Given the description of an element on the screen output the (x, y) to click on. 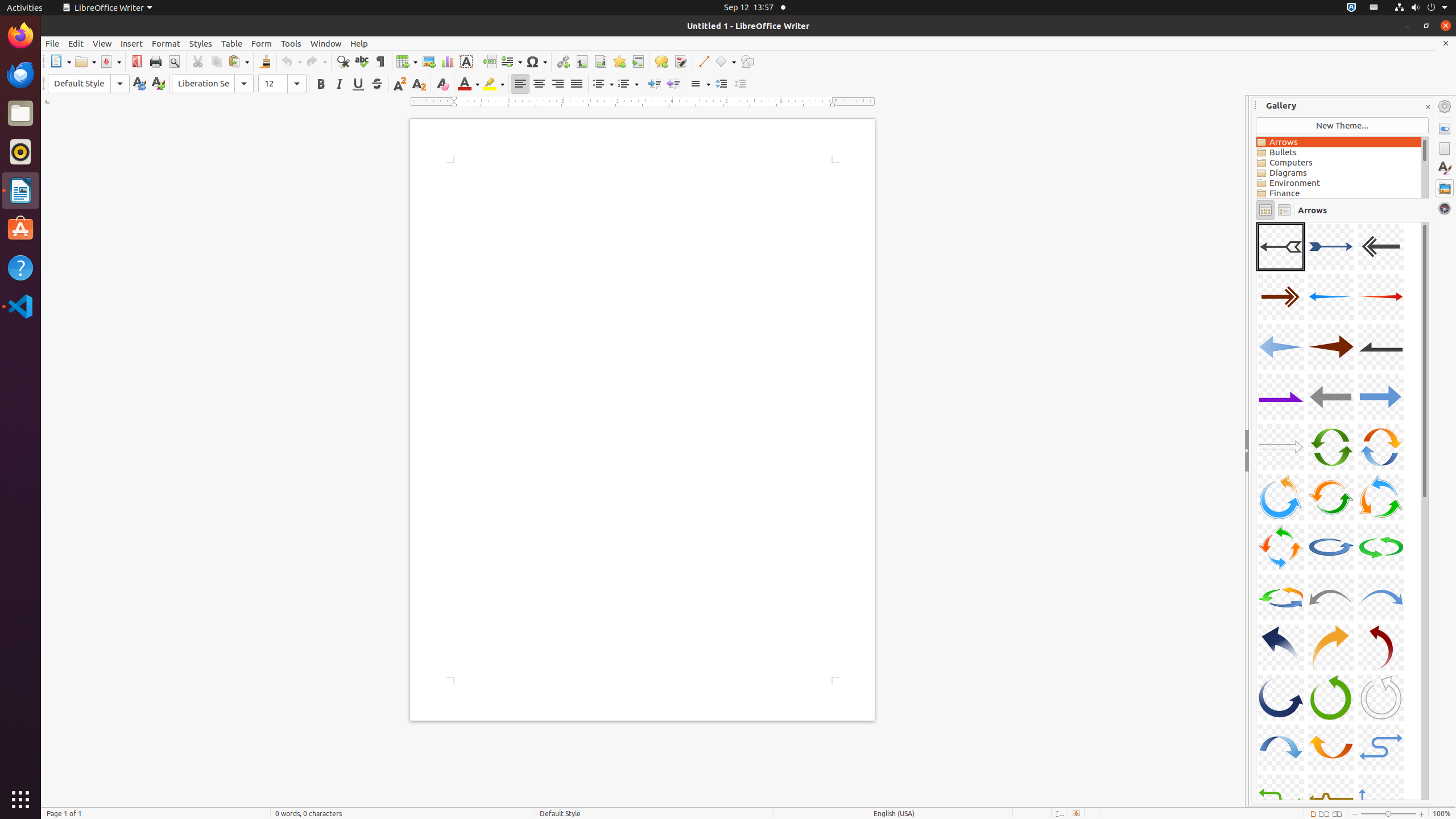
Visual Studio Code Element type: push-button (20, 306)
Diagrams Element type: list-item (1338, 172)
A25-CurvedArrow-DarkBlue Element type: list-item (1280, 646)
LibreOffice Writer Element type: menu (106, 7)
Image Element type: push-button (428, 61)
